Given the description of an element on the screen output the (x, y) to click on. 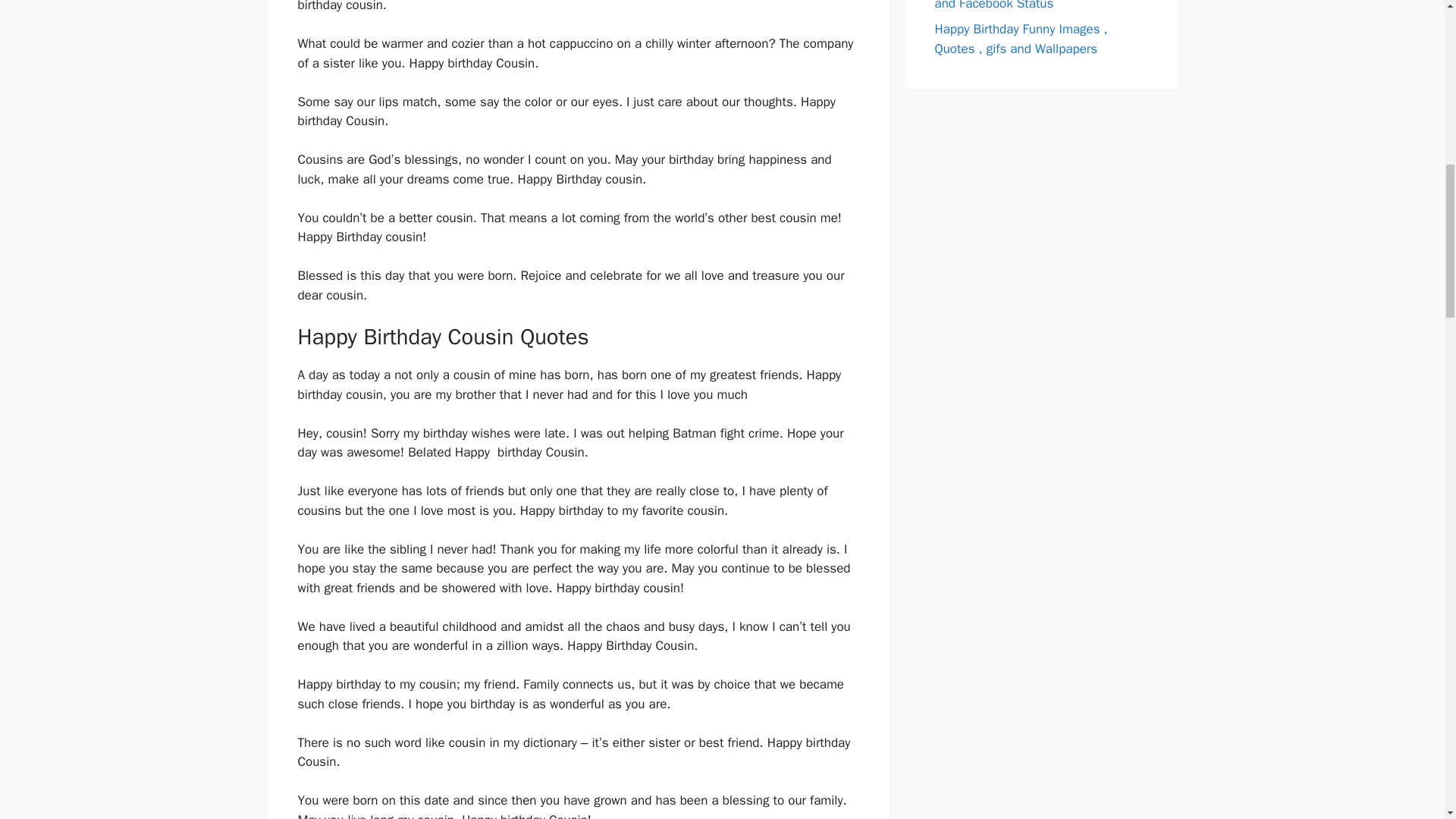
Happy Birthday Funny Images , Quotes , gifs and Wallpapers (1020, 38)
Best Happy Birthday Cake Wallpapers and Facebook Status (1040, 5)
